Given the description of an element on the screen output the (x, y) to click on. 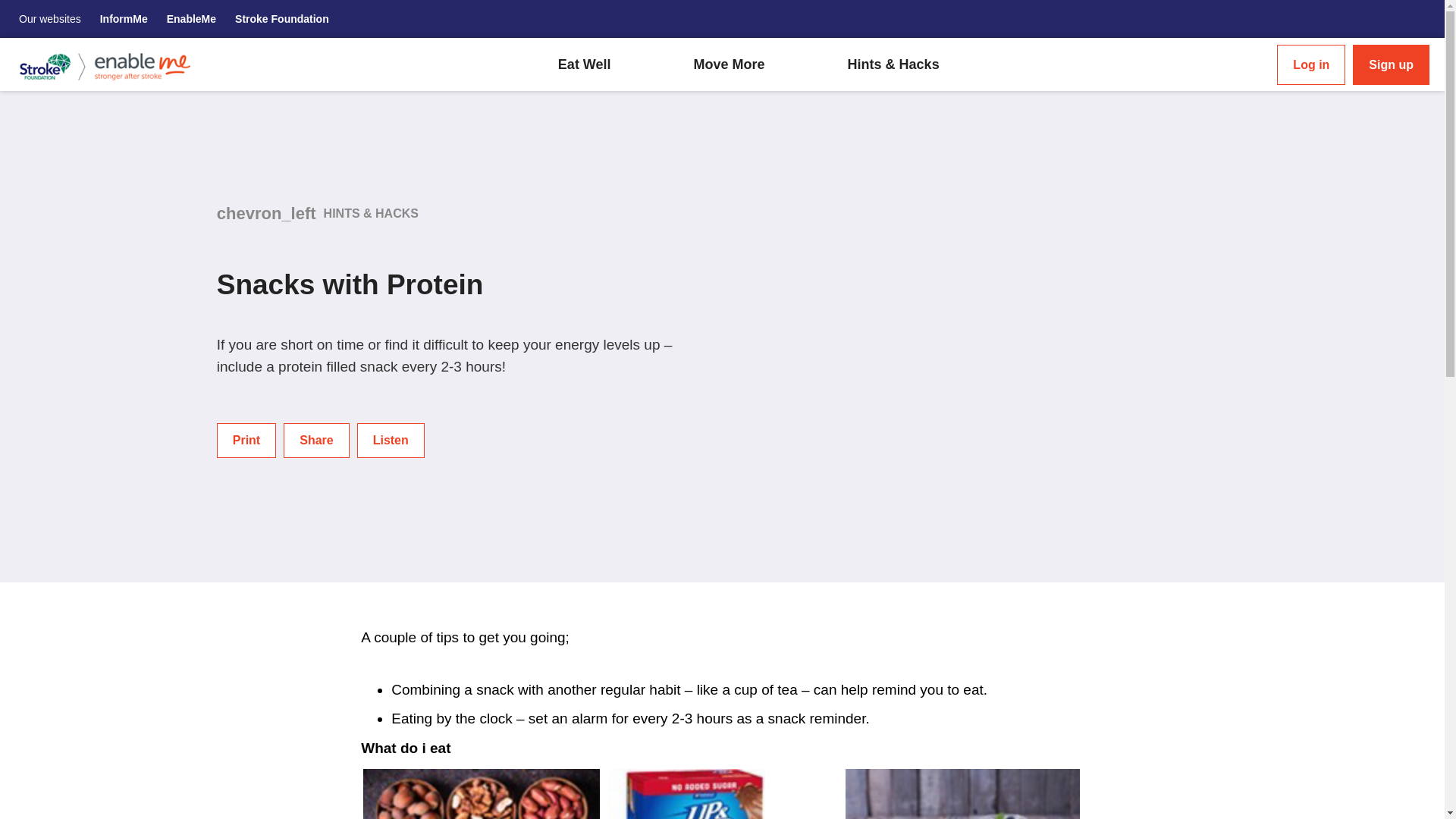
InformMe (124, 19)
Eat Well (584, 64)
Share (316, 440)
Stroke Foundation (281, 19)
Print (246, 440)
Move More (729, 64)
Sign up (1390, 64)
Log in (1310, 64)
EnableMe (191, 19)
Listen (390, 440)
